Given the description of an element on the screen output the (x, y) to click on. 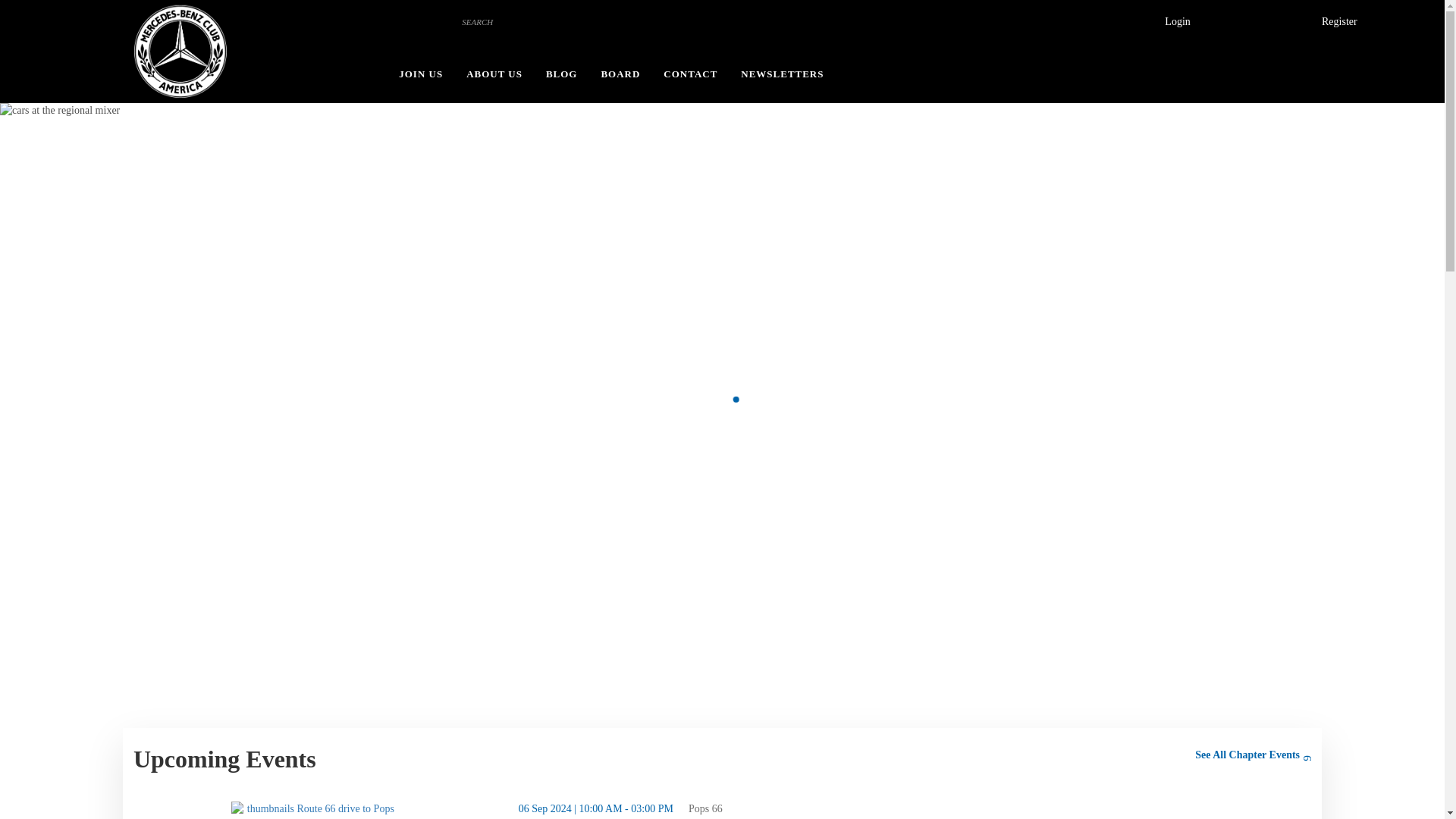
NEWSLETTERS (776, 74)
CONTACT (689, 74)
Register (1340, 22)
BLOG (561, 74)
BOARD (619, 74)
JOIN US (420, 74)
Login (1176, 22)
ABOUT US (494, 74)
Home (180, 51)
